Given the description of an element on the screen output the (x, y) to click on. 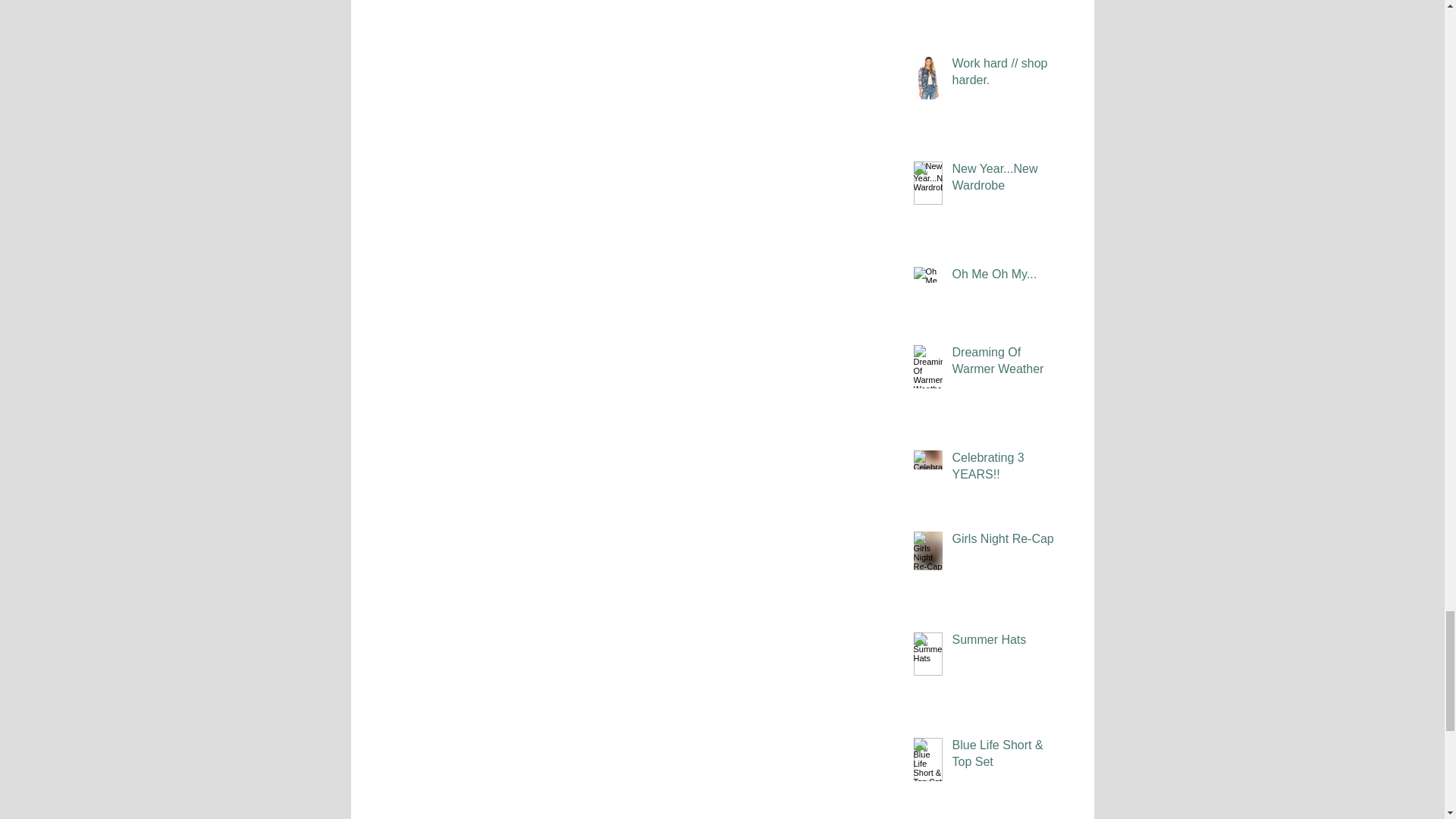
New Year...New Wardrobe (1006, 180)
Oh Me Oh My... (1006, 277)
Summer Hats (1006, 642)
Dreaming Of Warmer Weather (1006, 363)
Celebrating 3 YEARS!! (1006, 469)
Girls Night Re-Cap (1006, 541)
